Given the description of an element on the screen output the (x, y) to click on. 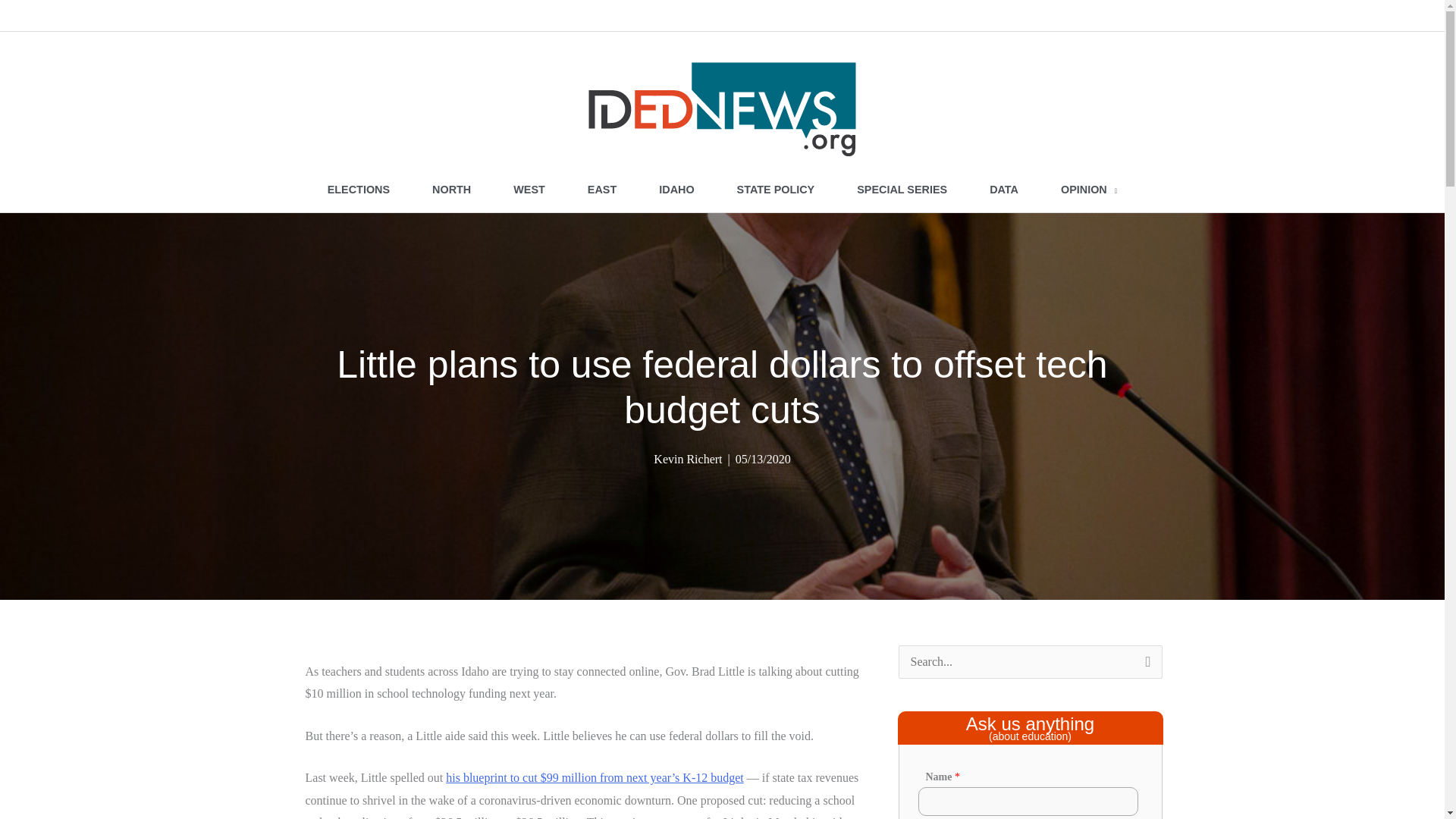
SPECIAL SERIES (901, 190)
IDAHO (675, 190)
NORTH (451, 190)
WEST (529, 190)
Kevin Richert (687, 459)
OPINION (1088, 190)
ELECTIONS (357, 190)
EAST (601, 190)
STATE POLICY (775, 190)
DATA (1003, 190)
